Given the description of an element on the screen output the (x, y) to click on. 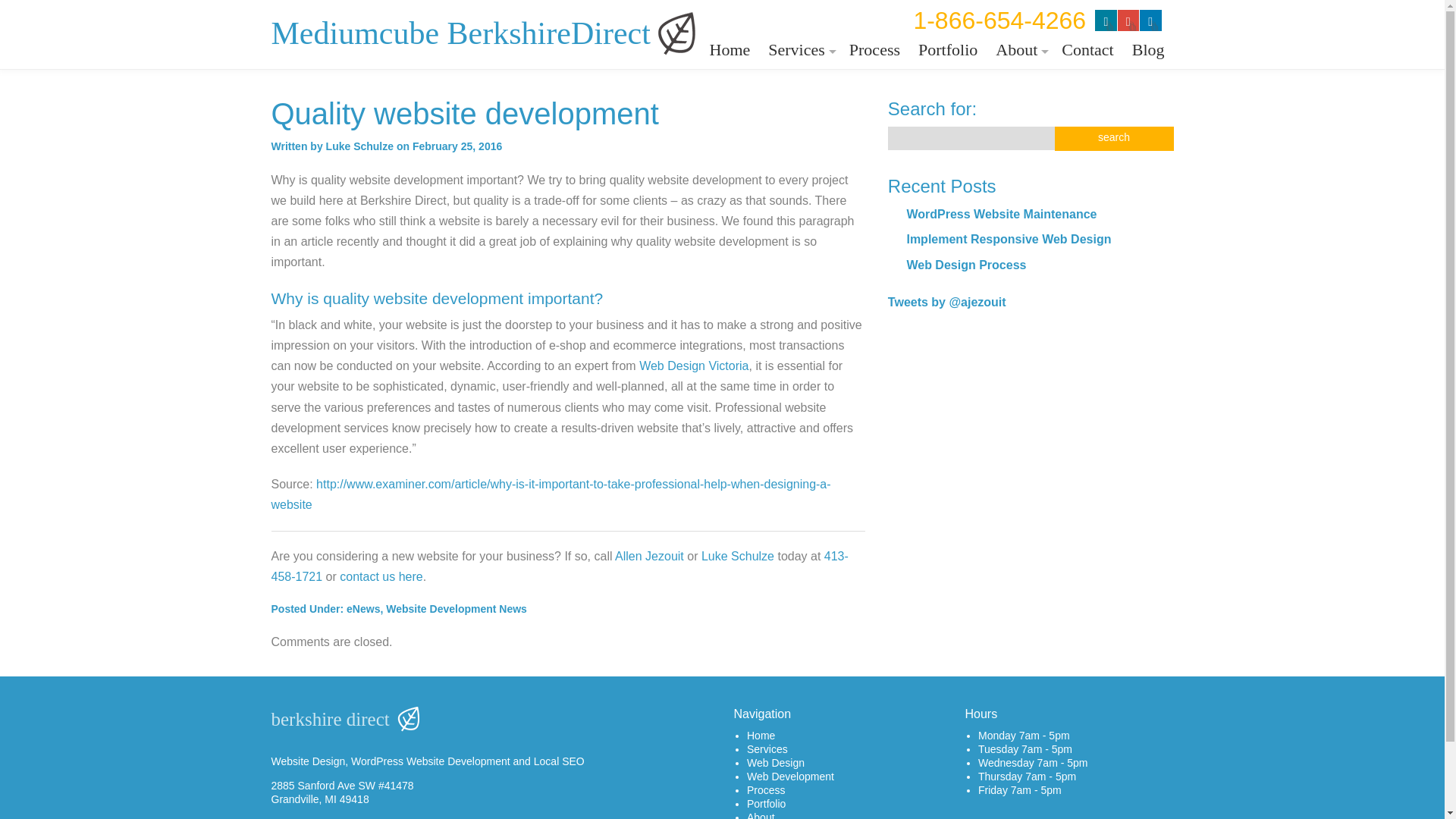
Website Development News (456, 608)
Woocommerce Websites (799, 164)
About (1019, 50)
Contact (1087, 50)
search (1113, 138)
WordPress Website Maintenance (1000, 214)
Website Projects Philosophy (1019, 100)
1-866-654-4266 (999, 20)
Web Design Philosophy (1019, 79)
eNews (363, 608)
